Given the description of an element on the screen output the (x, y) to click on. 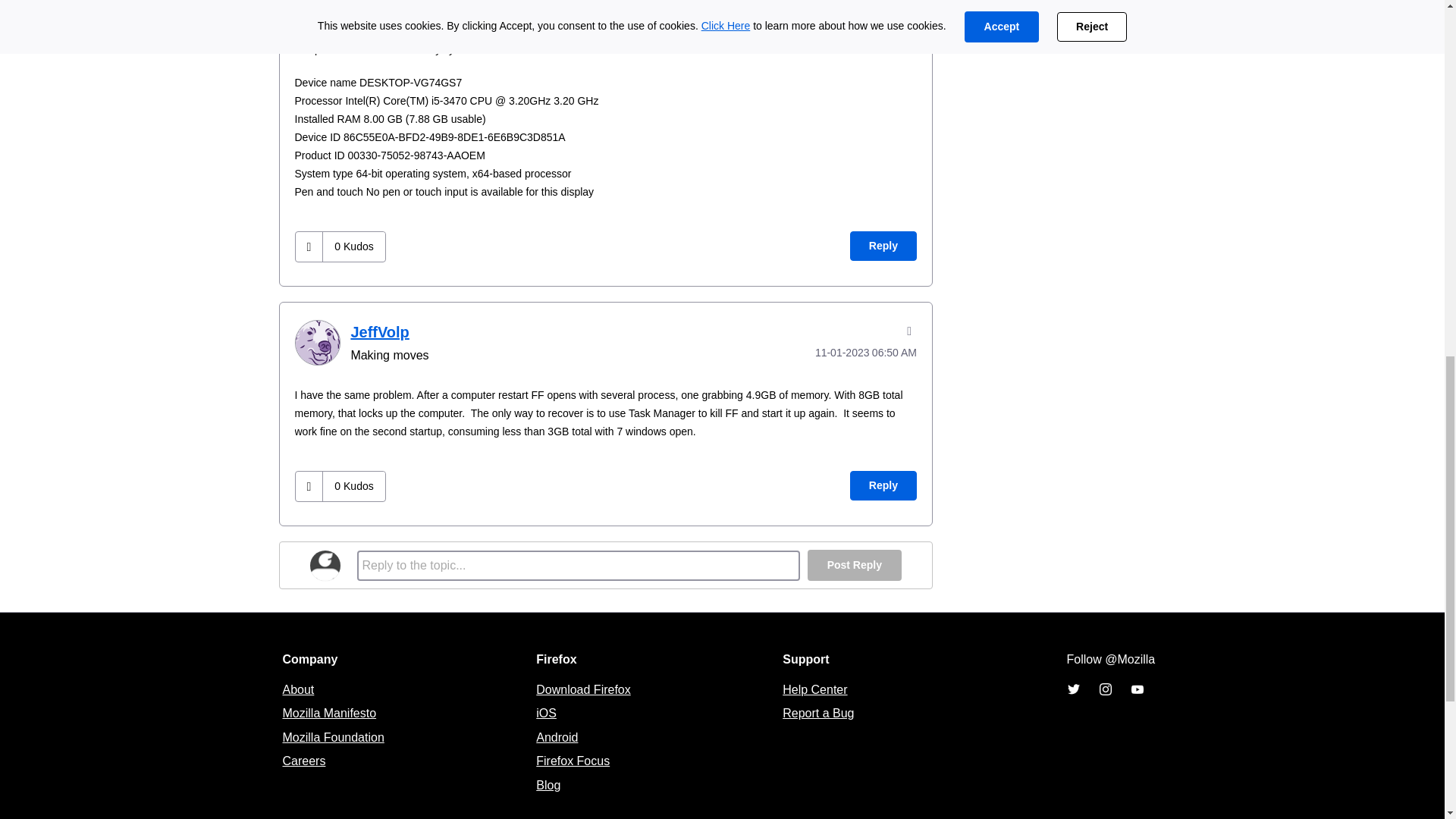
Click here to give kudos to this post. (309, 246)
JeffVolp (316, 342)
The total number of kudos this post has received. (353, 246)
